Given the description of an element on the screen output the (x, y) to click on. 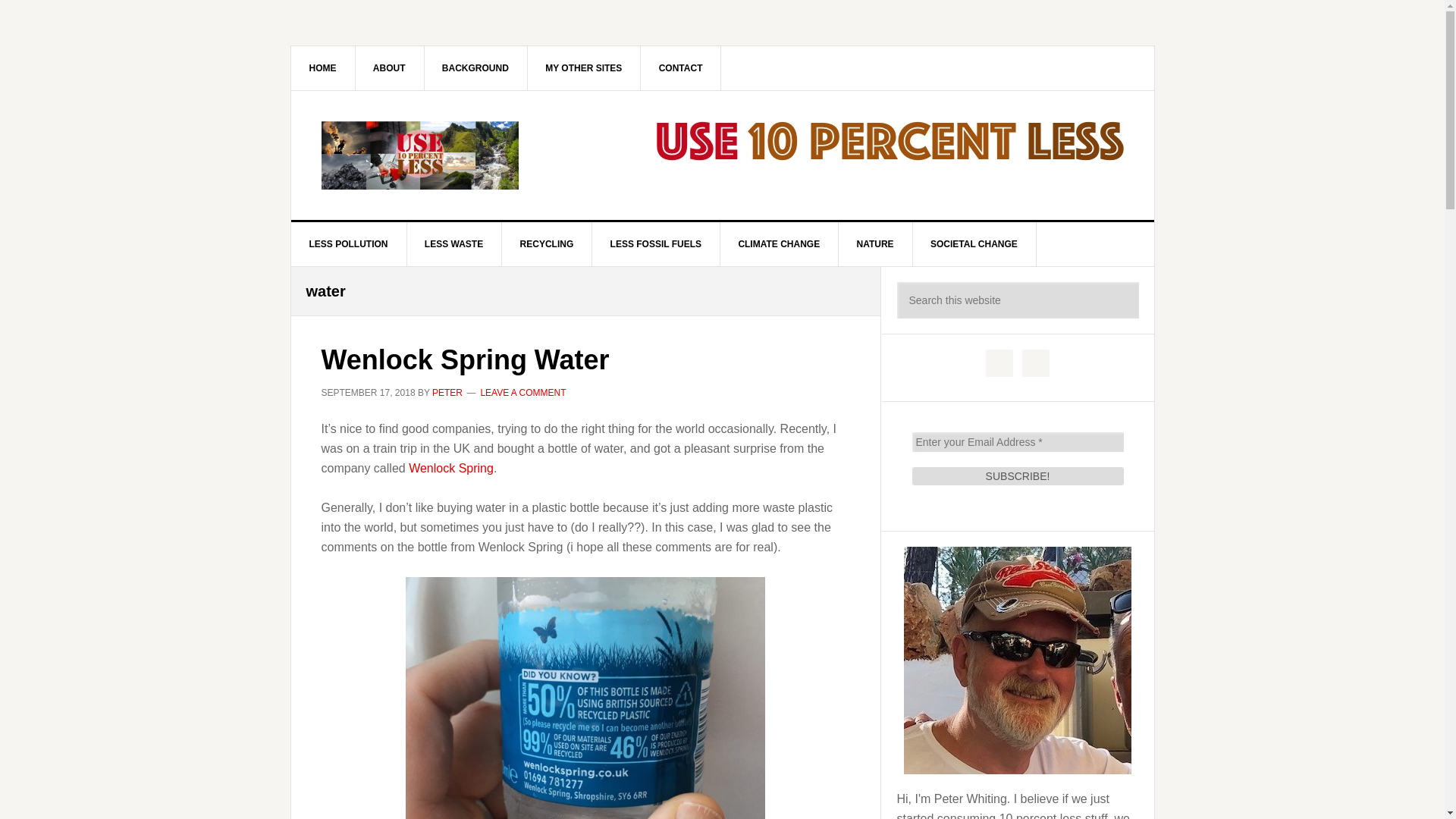
Subscribe! (1016, 475)
BACKGROUND (475, 67)
Enter your Email Address (1016, 442)
SOCIETAL CHANGE (974, 243)
LESS FOSSIL FUELS (656, 243)
LEAVE A COMMENT (523, 392)
CONTACT (681, 67)
Wenlock Spring Water (465, 359)
Wenlock Spring (451, 467)
NATURE (875, 243)
MY OTHER SITES (583, 67)
HOME (323, 67)
CLIMATE CHANGE (778, 243)
